Given the description of an element on the screen output the (x, y) to click on. 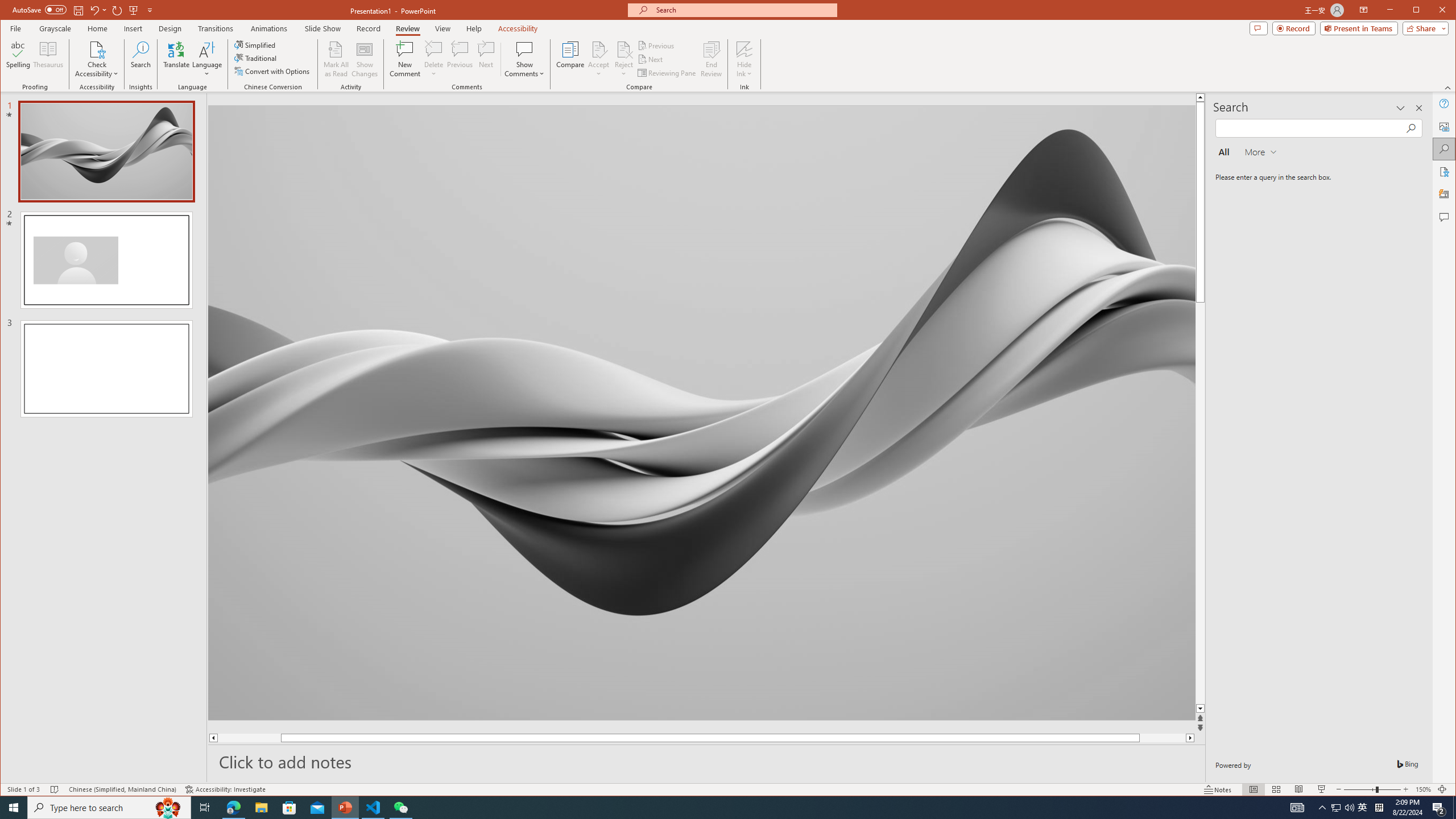
Language (207, 59)
New Comment (405, 59)
Show Changes (365, 59)
Next (651, 59)
